Given the description of an element on the screen output the (x, y) to click on. 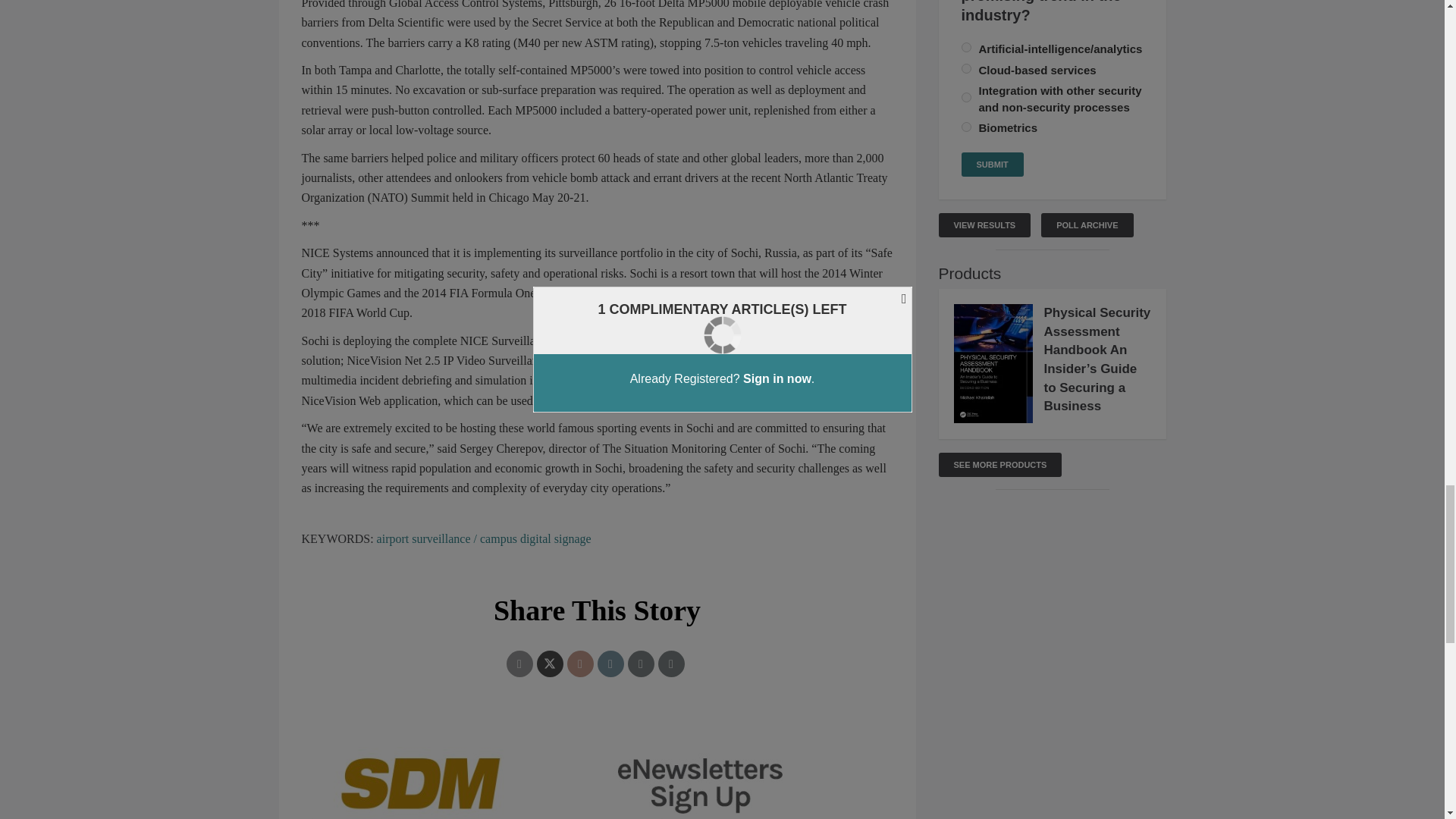
489 (965, 47)
491 (965, 97)
Submit (991, 164)
492 (965, 126)
Interaction questions (597, 775)
490 (965, 68)
